Given the description of an element on the screen output the (x, y) to click on. 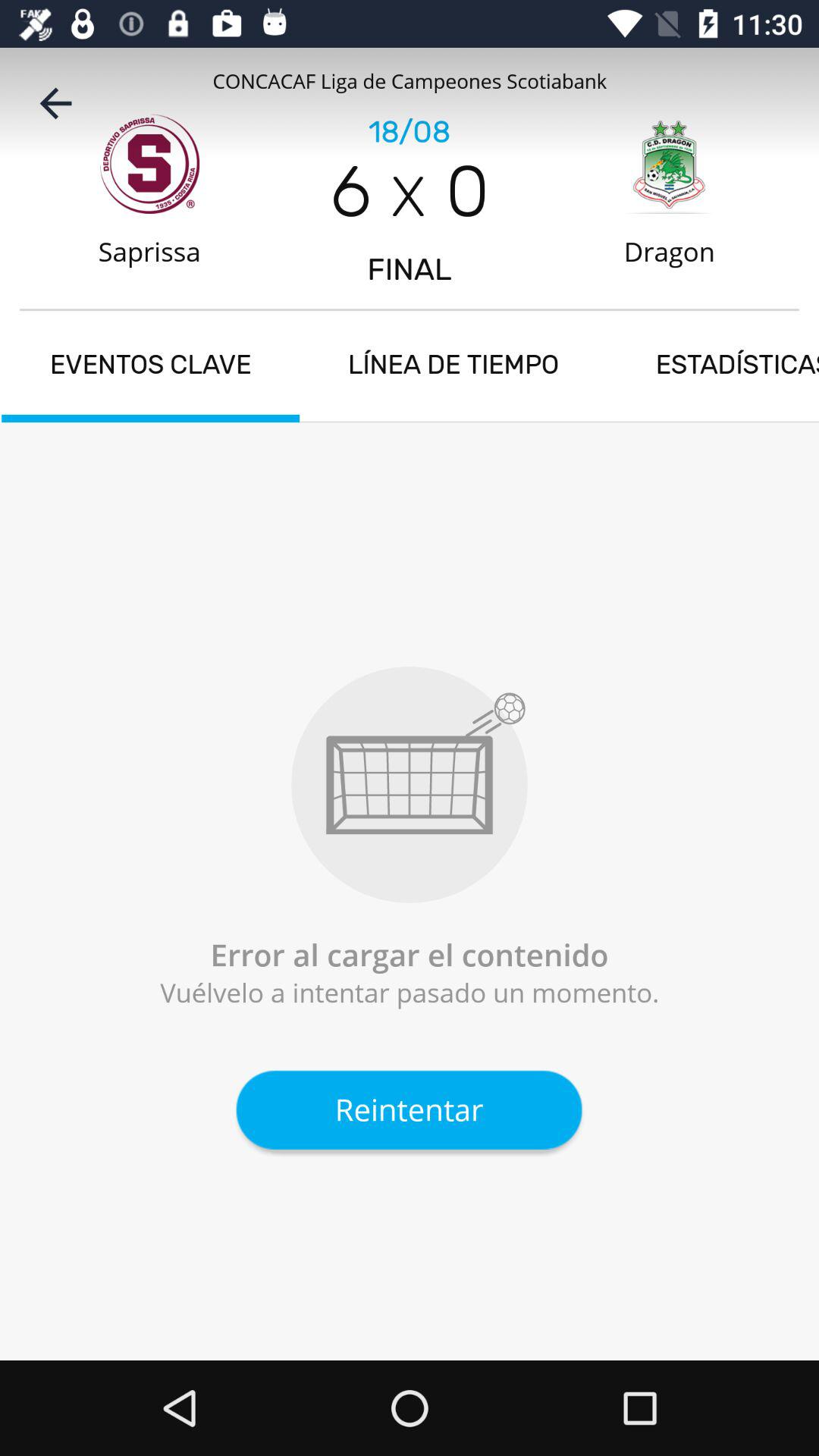
jump until the reintentar (408, 1109)
